Given the description of an element on the screen output the (x, y) to click on. 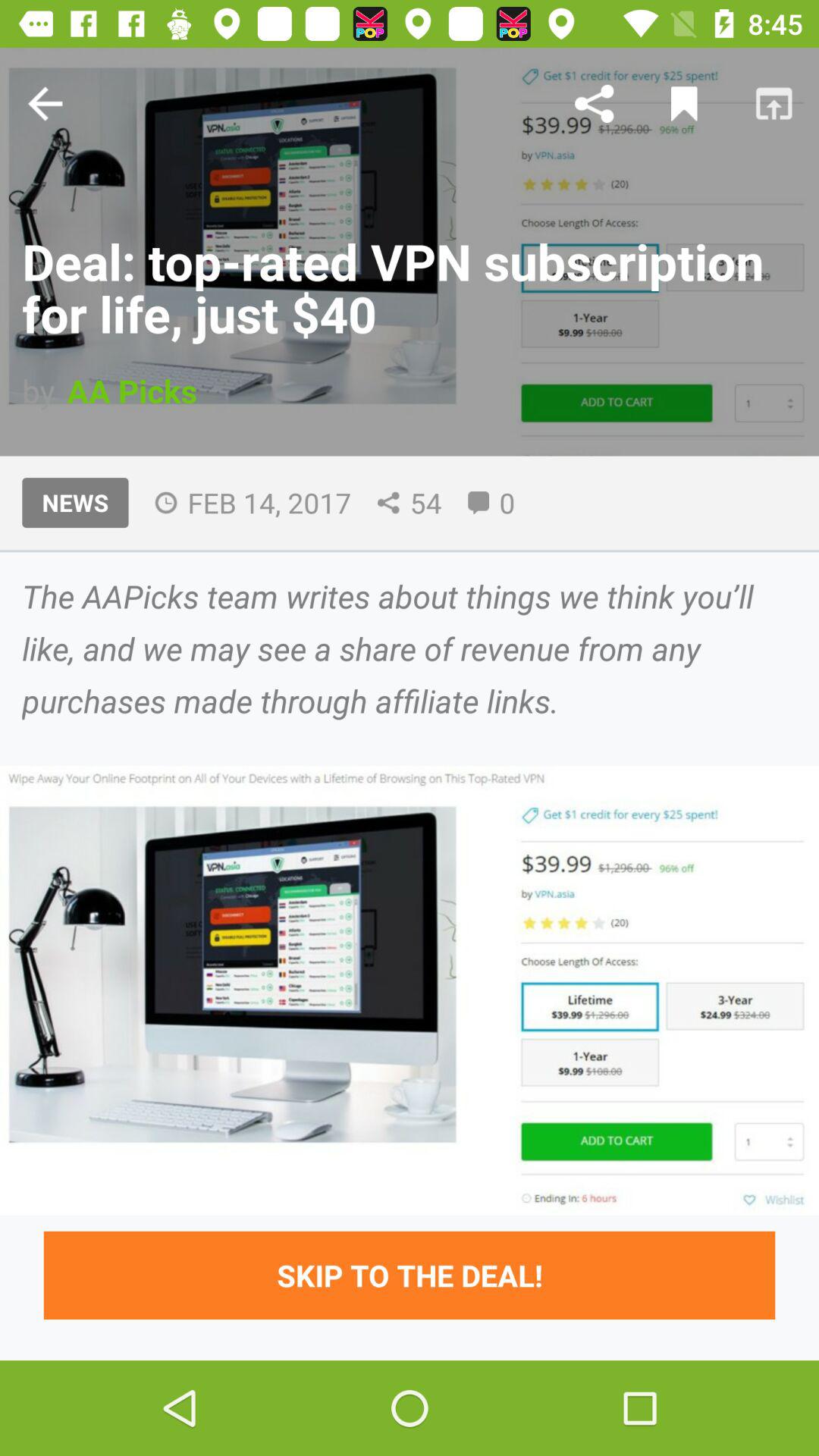
go back (44, 103)
